Given the description of an element on the screen output the (x, y) to click on. 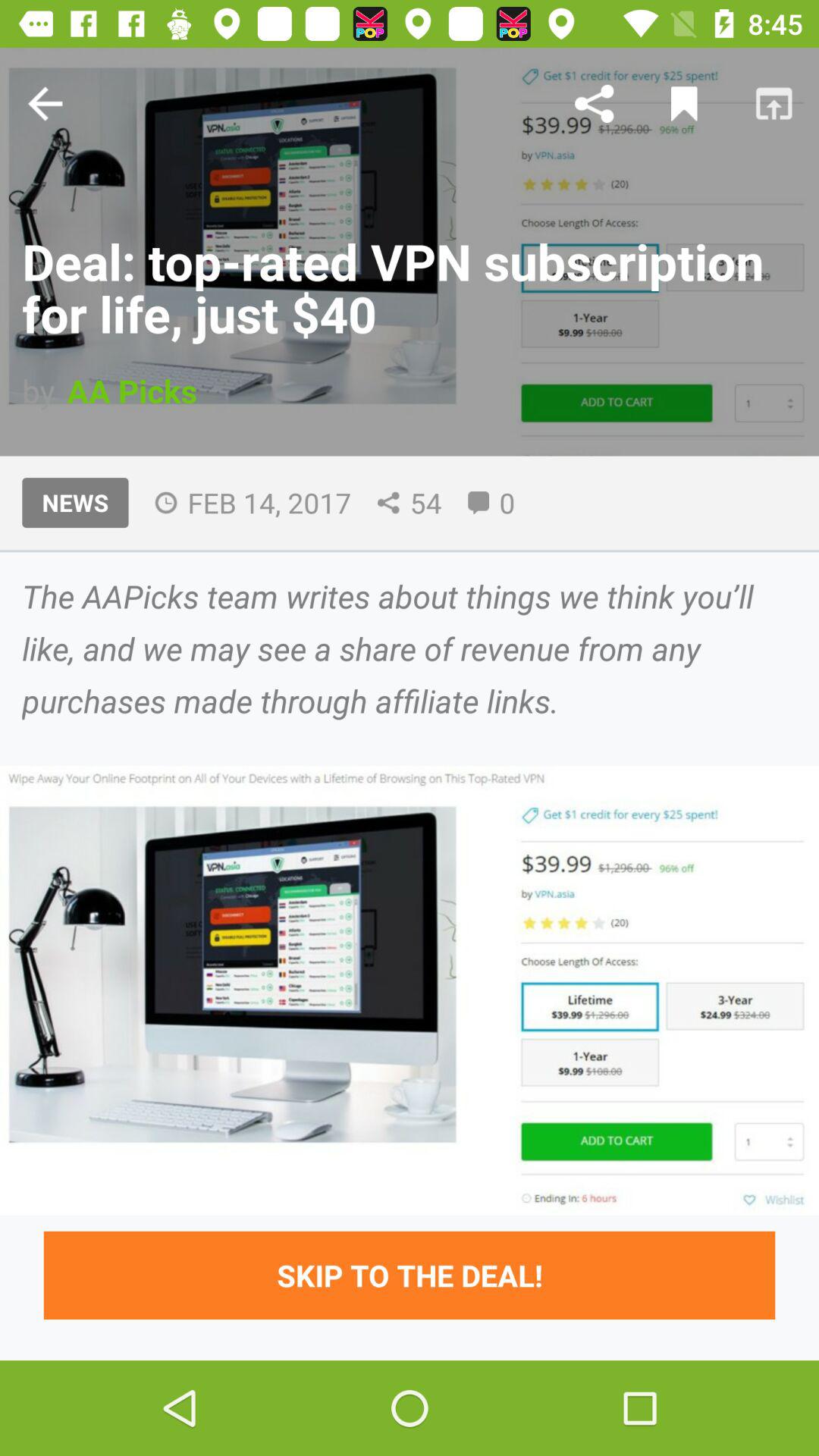
go back (44, 103)
